Given the description of an element on the screen output the (x, y) to click on. 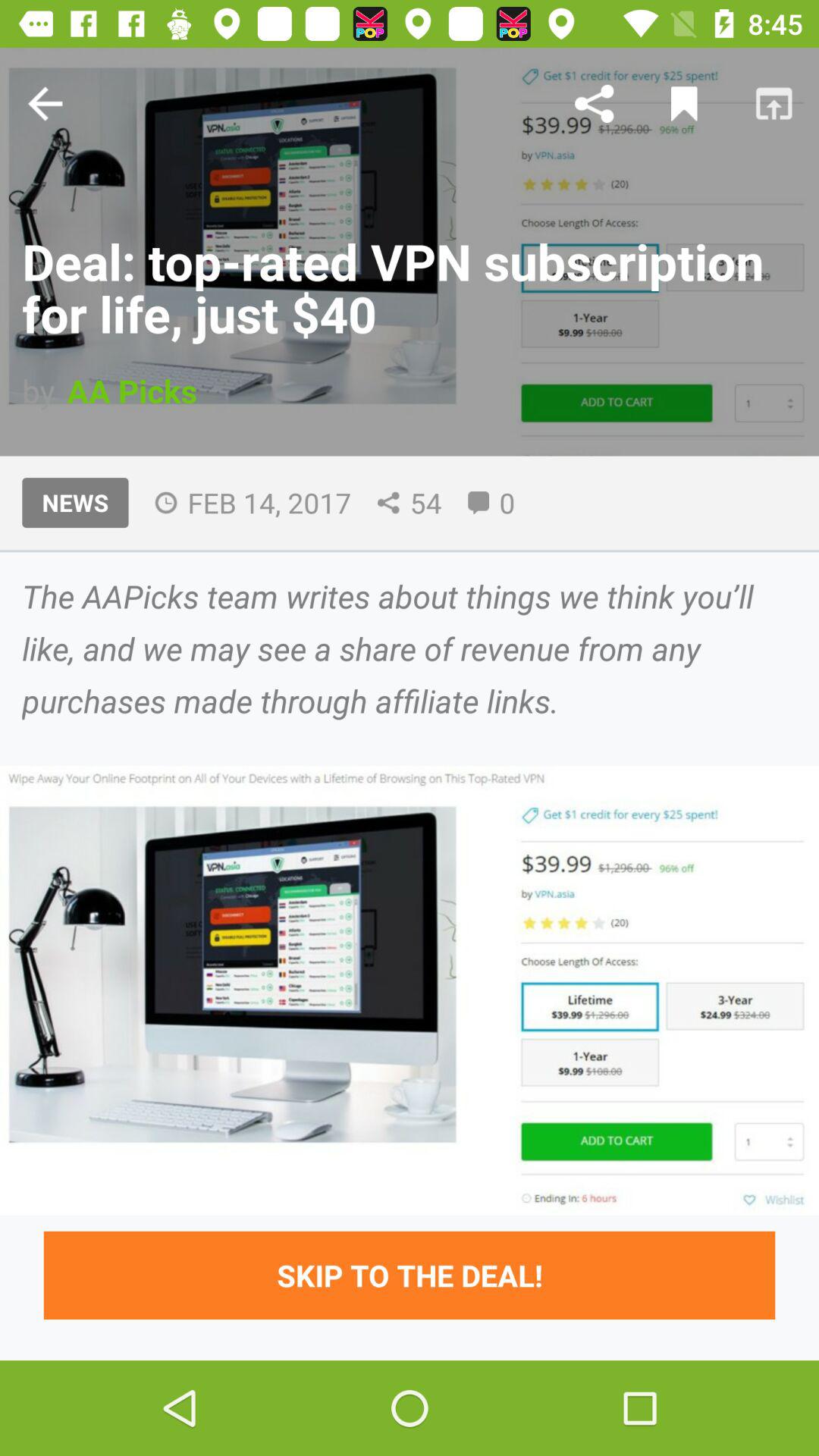
go back (44, 103)
